Given the description of an element on the screen output the (x, y) to click on. 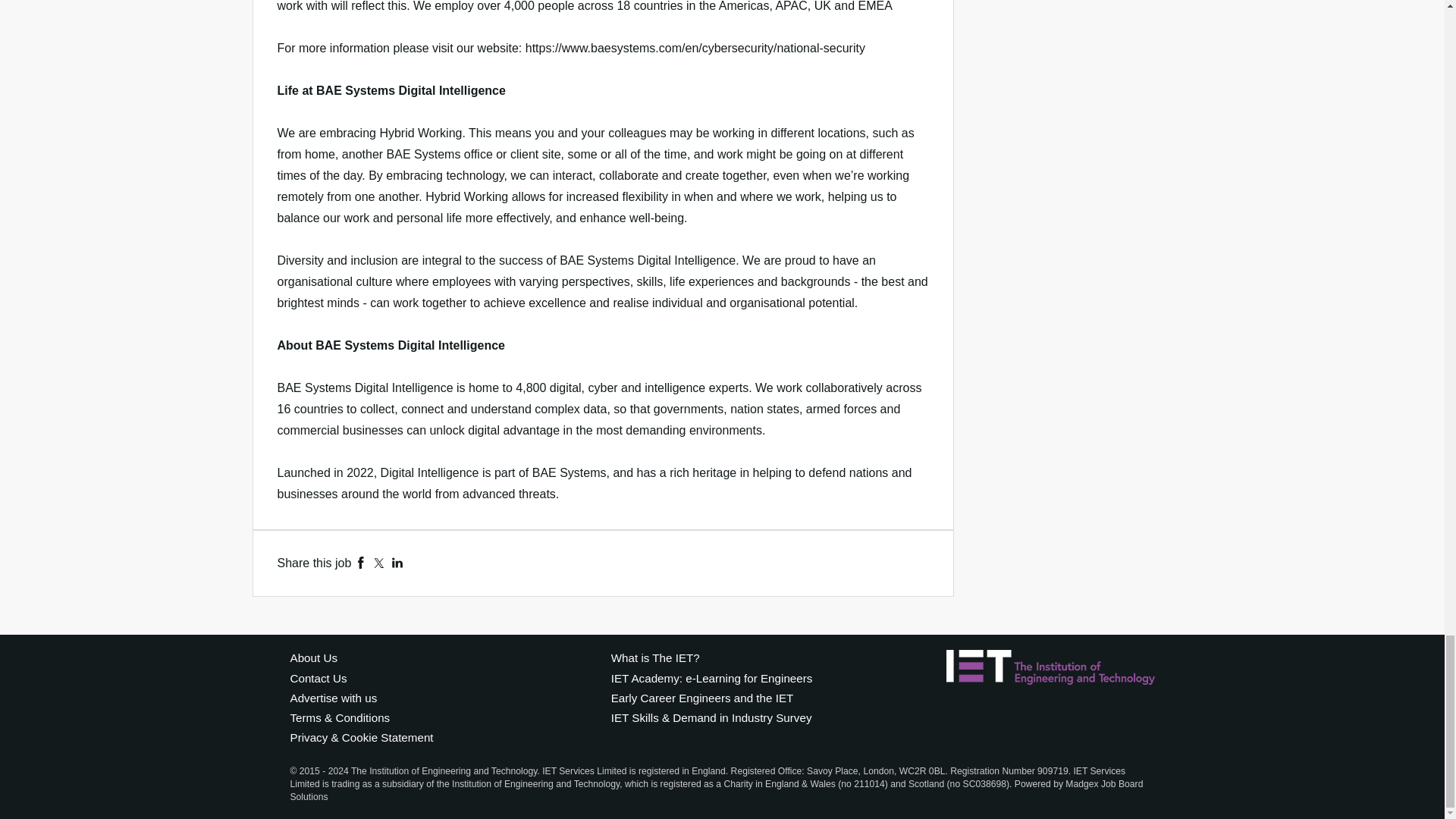
Facebook (360, 562)
Twitter (378, 562)
